Given the description of an element on the screen output the (x, y) to click on. 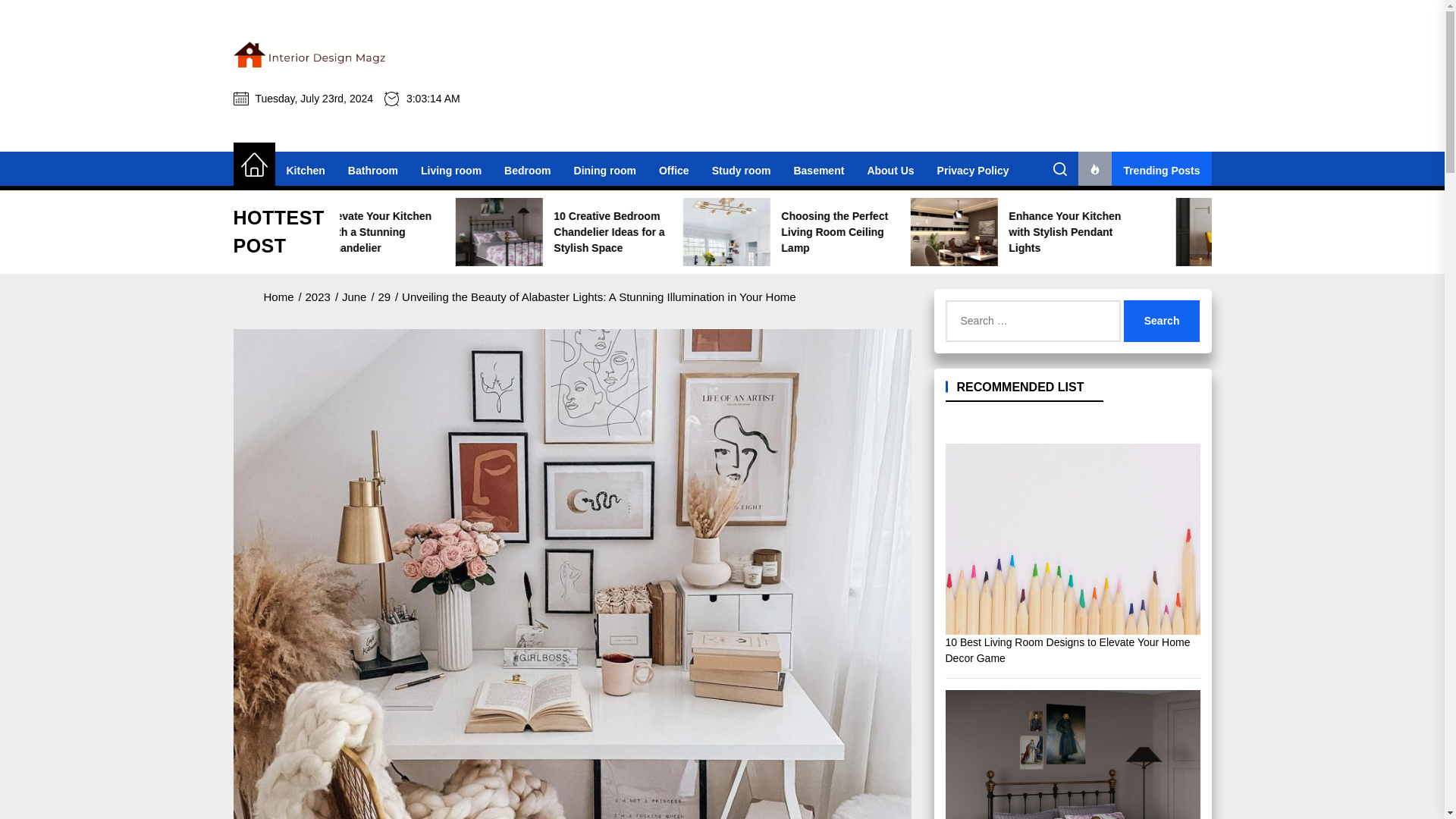
Kitchen (305, 170)
Study room (741, 170)
Trending Posts (1144, 170)
10 Creative Bedroom Chandelier Ideas for a Stylish Space (779, 232)
Home (253, 165)
About Us (890, 170)
Enhance Your Study Space with a Floor Lamp (330, 232)
Interior Design Magz (389, 113)
Office (673, 170)
Enhance Your Kitchen with Stylish Pendant Lights (1229, 232)
Choosing the Perfect Living Room Ceiling Lamp (1004, 232)
Living room (451, 170)
Bedroom (527, 170)
Privacy Policy (973, 170)
Basement (818, 170)
